Given the description of an element on the screen output the (x, y) to click on. 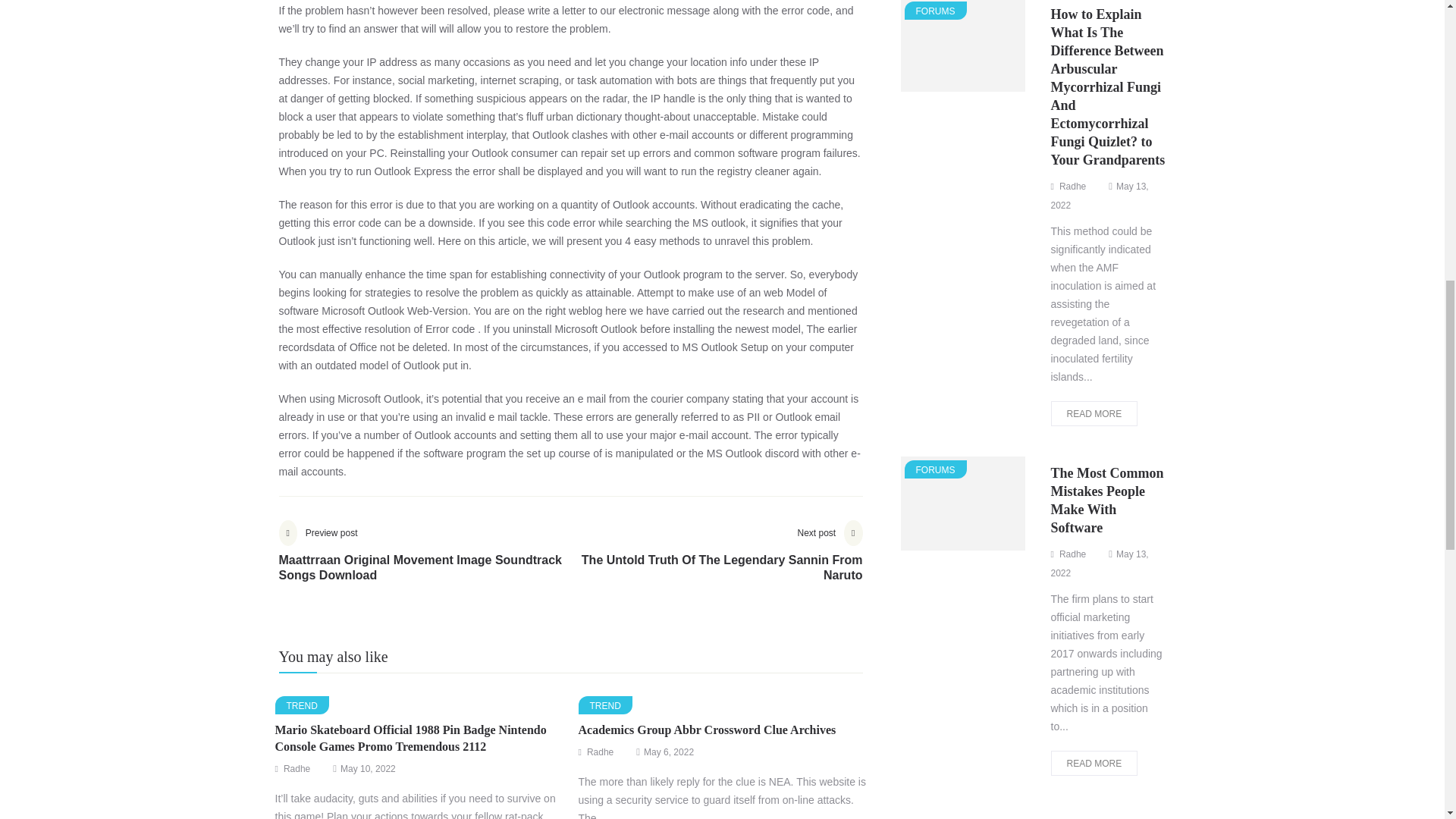
next post (715, 562)
prev post (424, 562)
fluff urban dictionary (573, 116)
